Given the description of an element on the screen output the (x, y) to click on. 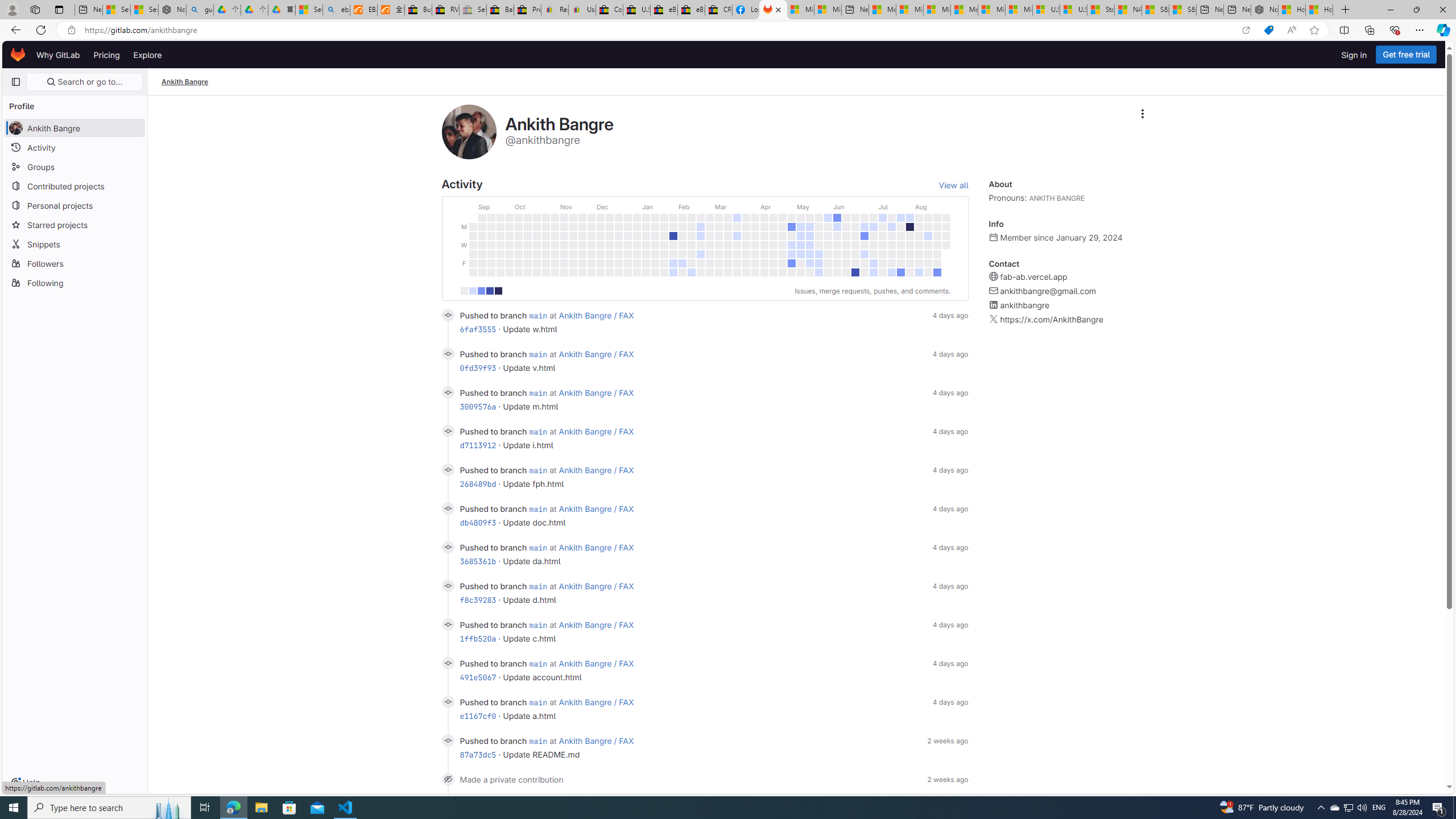
Sign in (1353, 54)
